Given the description of an element on the screen output the (x, y) to click on. 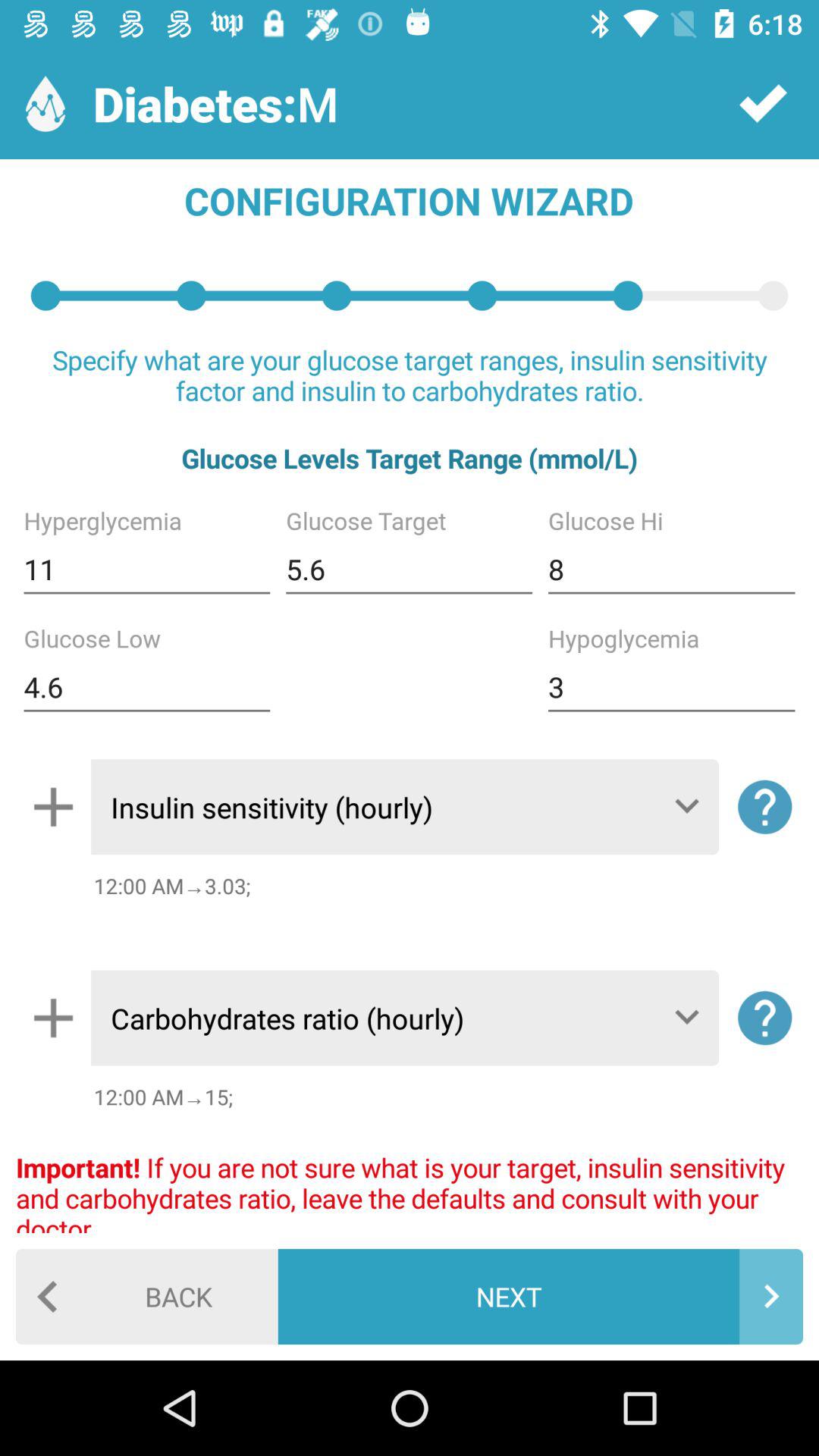
turn off the icon next to the next item (146, 1296)
